Given the description of an element on the screen output the (x, y) to click on. 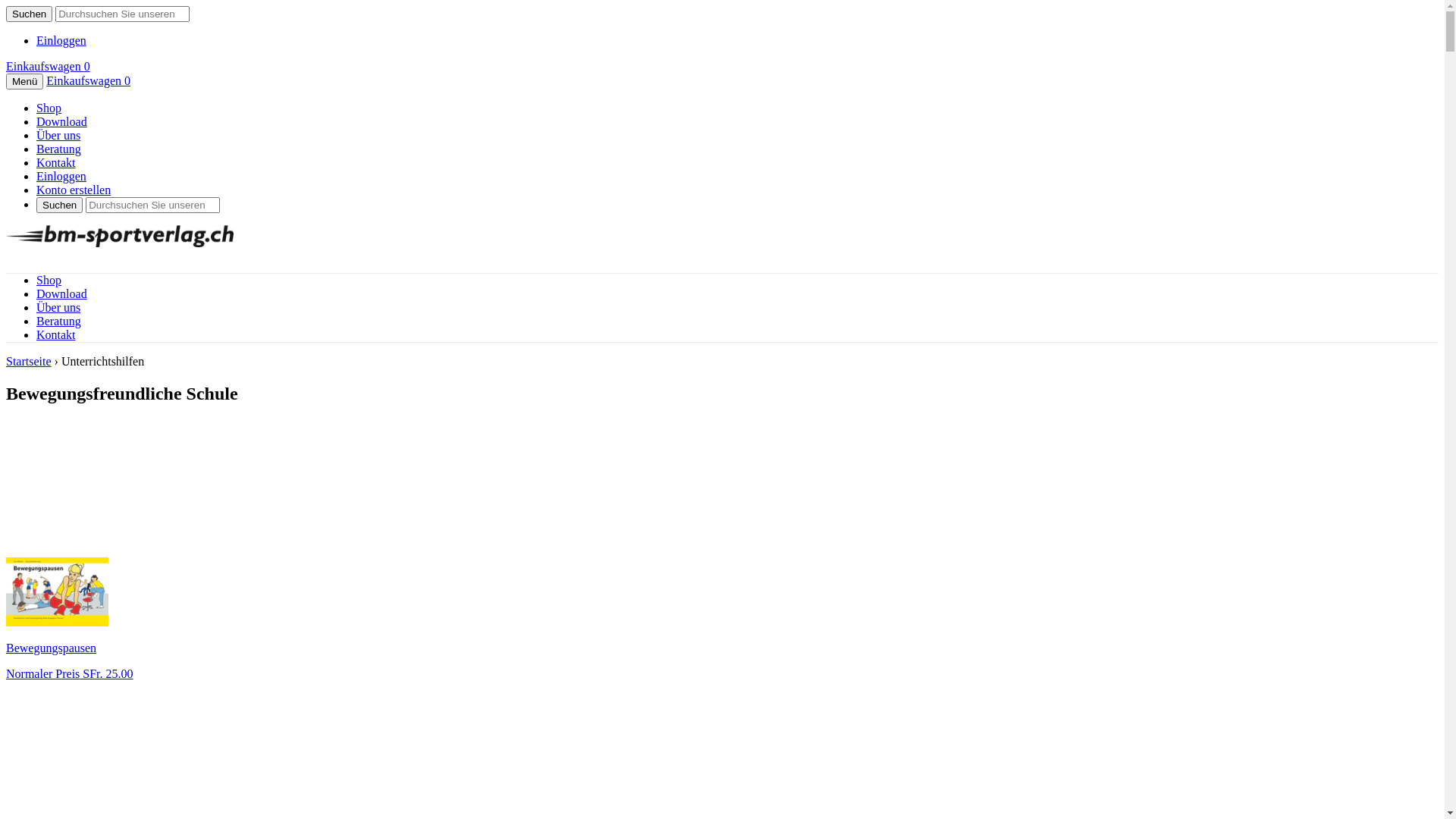
Einloggen Element type: text (61, 175)
Kontakt Element type: text (55, 334)
Shop Element type: text (48, 279)
Beratung Element type: text (58, 320)
Konto erstellen Element type: text (73, 189)
Einkaufswagen 0 Element type: text (88, 80)
Suchen Element type: text (59, 205)
Bewegungspausen
Normaler Preis SFr. 25.00 Element type: text (722, 549)
Download Element type: text (61, 121)
Beratung Element type: text (58, 148)
Einloggen Element type: text (61, 40)
Startseite Element type: text (28, 360)
Suchen Element type: text (29, 13)
Download Element type: text (61, 293)
Shop Element type: text (48, 107)
Kontakt Element type: text (55, 162)
Einkaufswagen 0 Element type: text (48, 65)
